Given the description of an element on the screen output the (x, y) to click on. 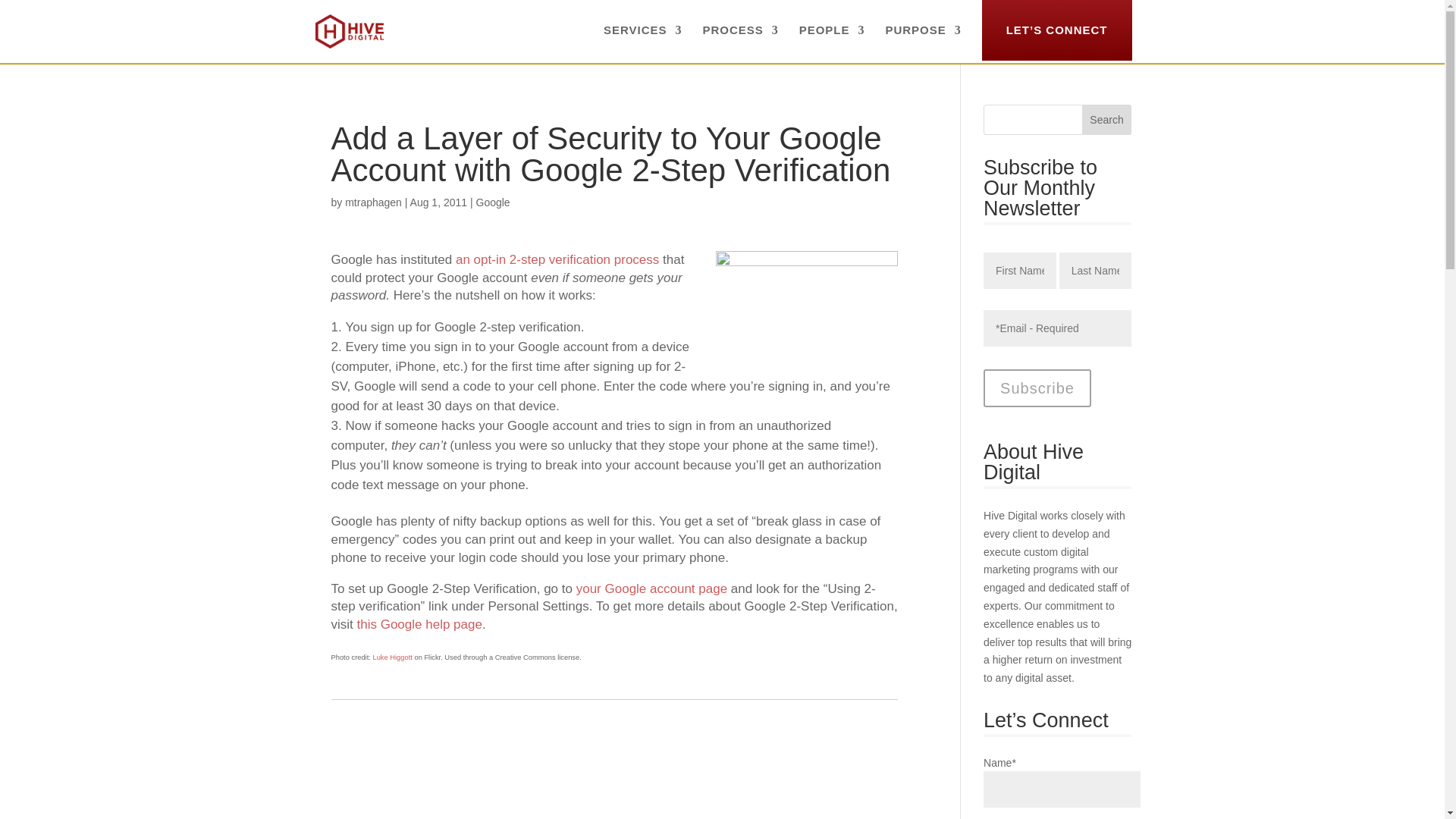
PROCESS (739, 42)
Search (1106, 119)
Subscribe (1037, 388)
your Google account page (651, 588)
Subscribe (1037, 388)
PURPOSE (922, 42)
mtraphagen (373, 202)
Search (1106, 119)
this Google help page (418, 624)
PEOPLE (831, 42)
